Given the description of an element on the screen output the (x, y) to click on. 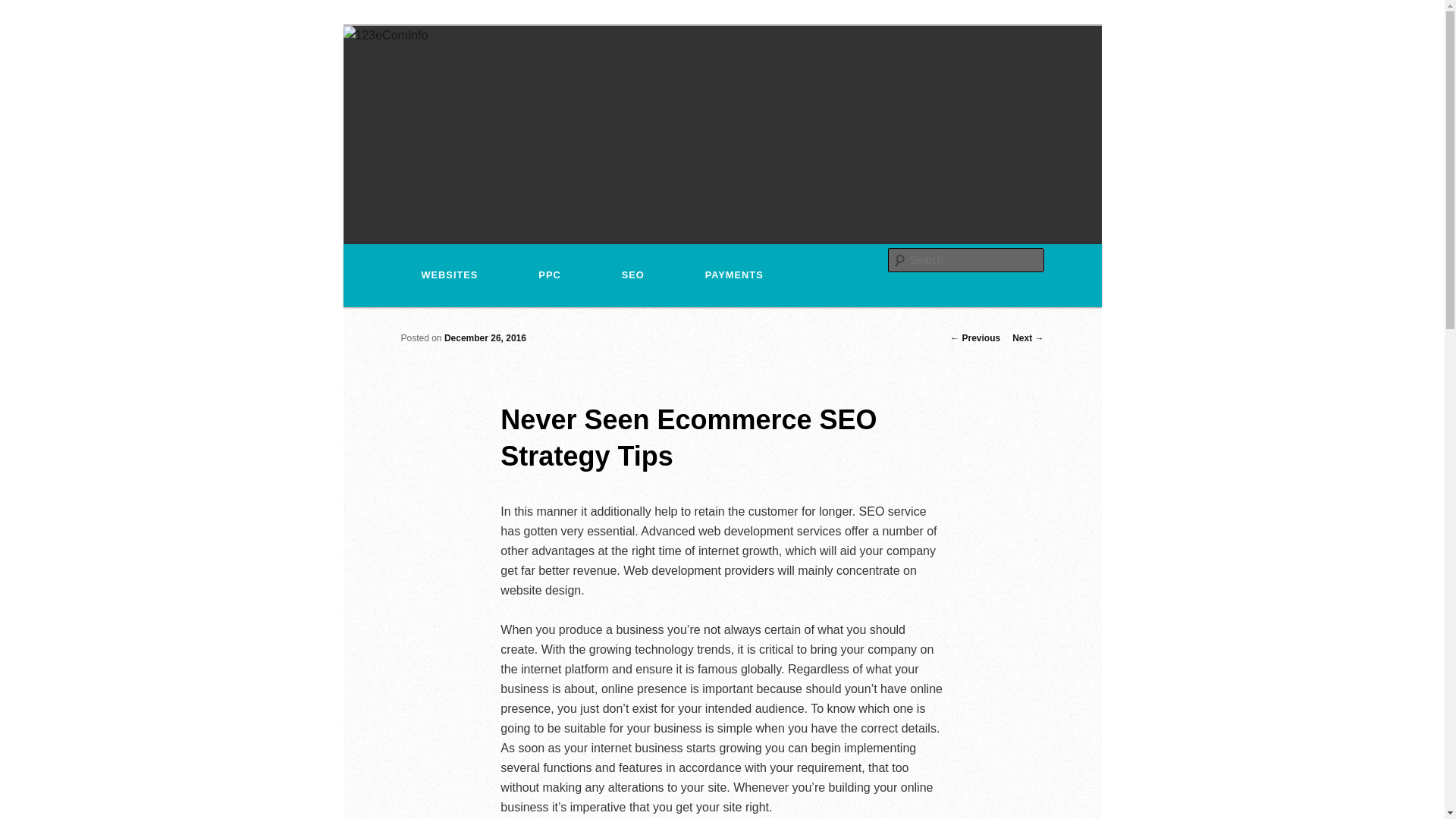
PAYMENTS Element type: text (733, 275)
Search Element type: text (24, 8)
123eComInfo Element type: text (471, 83)
WEBSITES Element type: text (449, 275)
PPC Element type: text (549, 275)
December 26, 2016 Element type: text (485, 337)
SKIP TO PRIMARY CONTENT Element type: text (430, 259)
SEO Element type: text (632, 275)
